Given the description of an element on the screen output the (x, y) to click on. 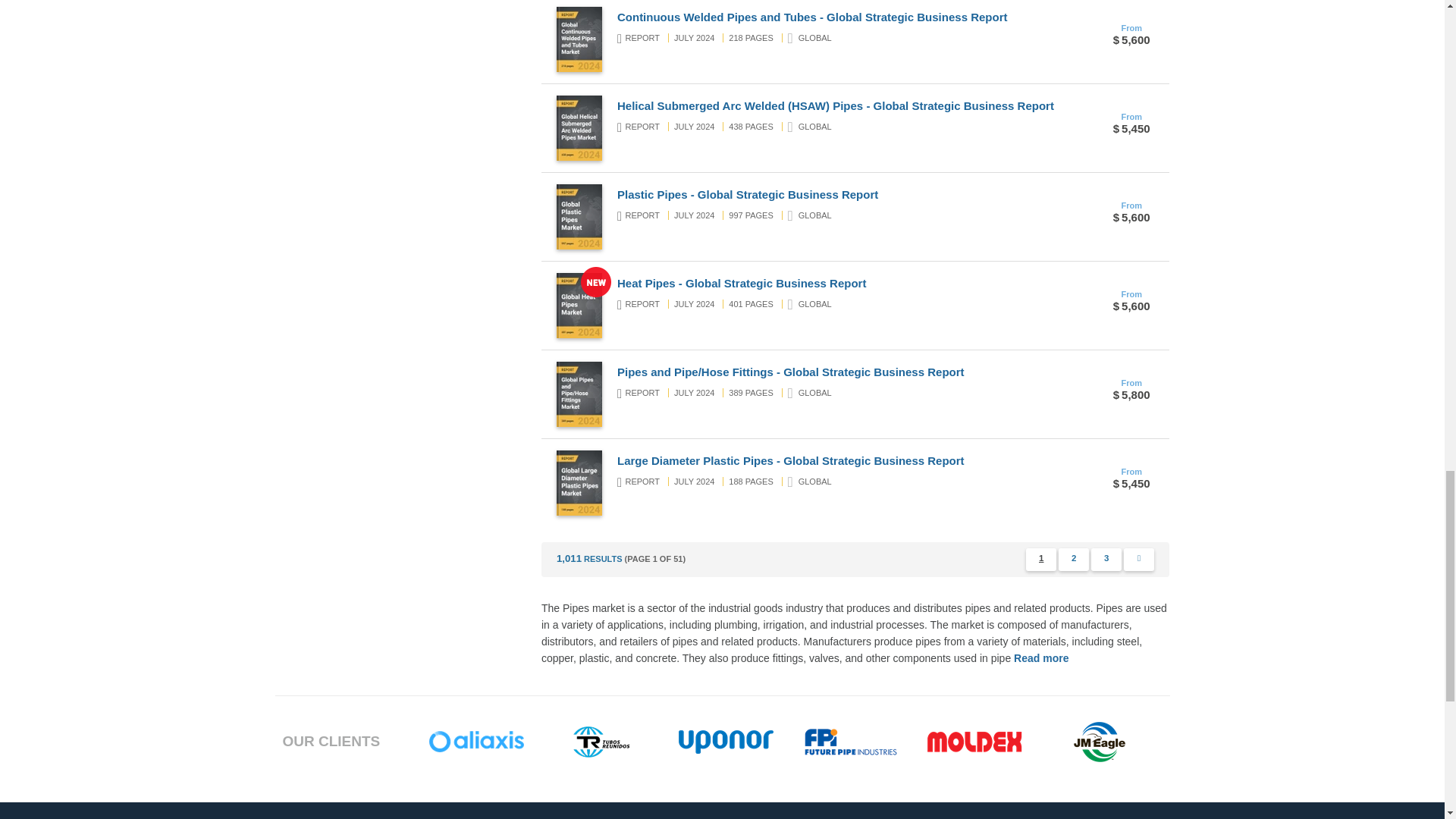
Moldex (974, 741)
Future Pipe Industries (850, 741)
Aliaxis Group (476, 741)
Tubos Reunidos (600, 741)
Uponor (725, 741)
JM Eagle (1099, 741)
